Given the description of an element on the screen output the (x, y) to click on. 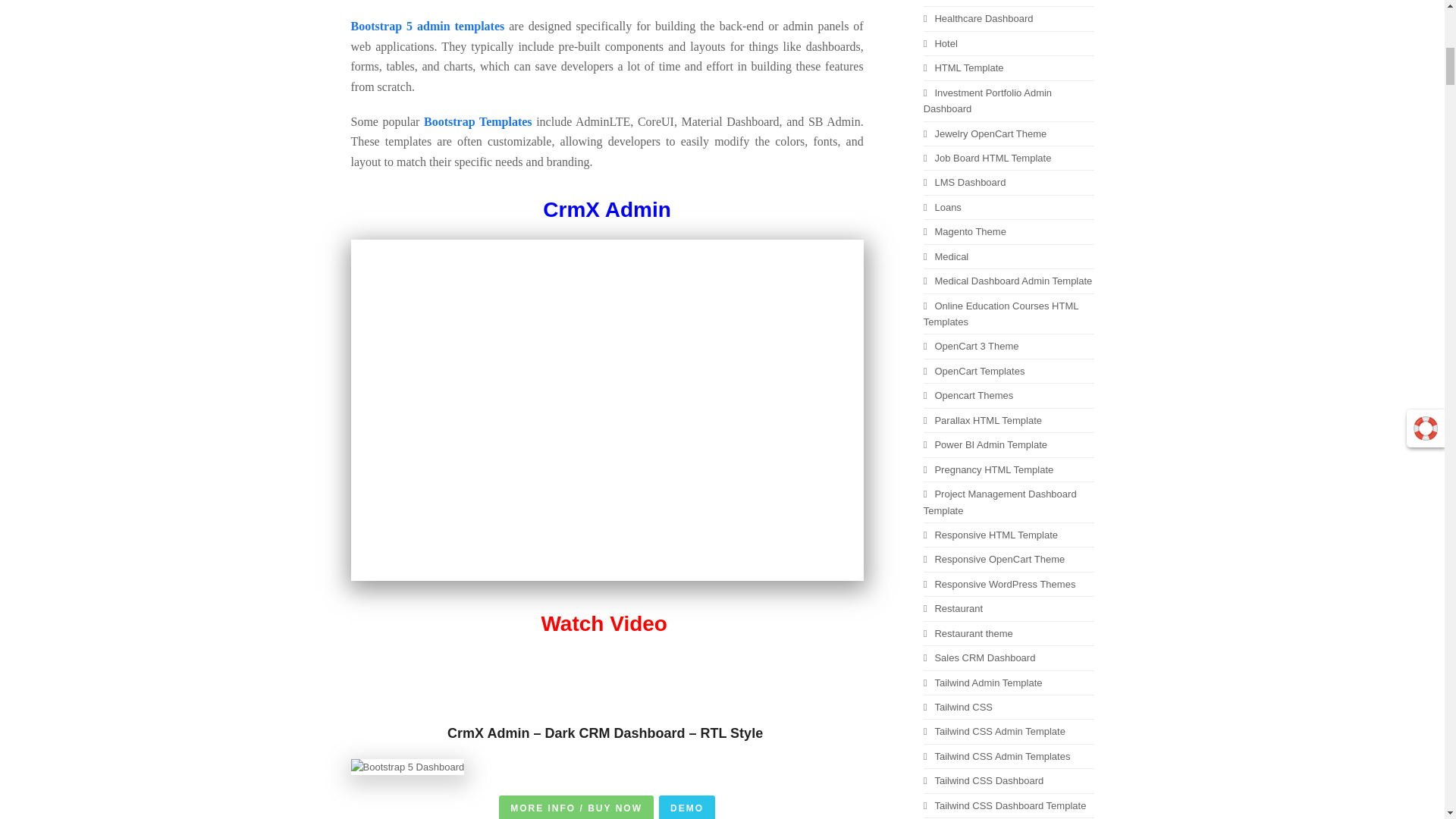
Bootstrap Templates (477, 121)
Bootstrap 5 admin templates (426, 25)
DEMO (686, 807)
